Given the description of an element on the screen output the (x, y) to click on. 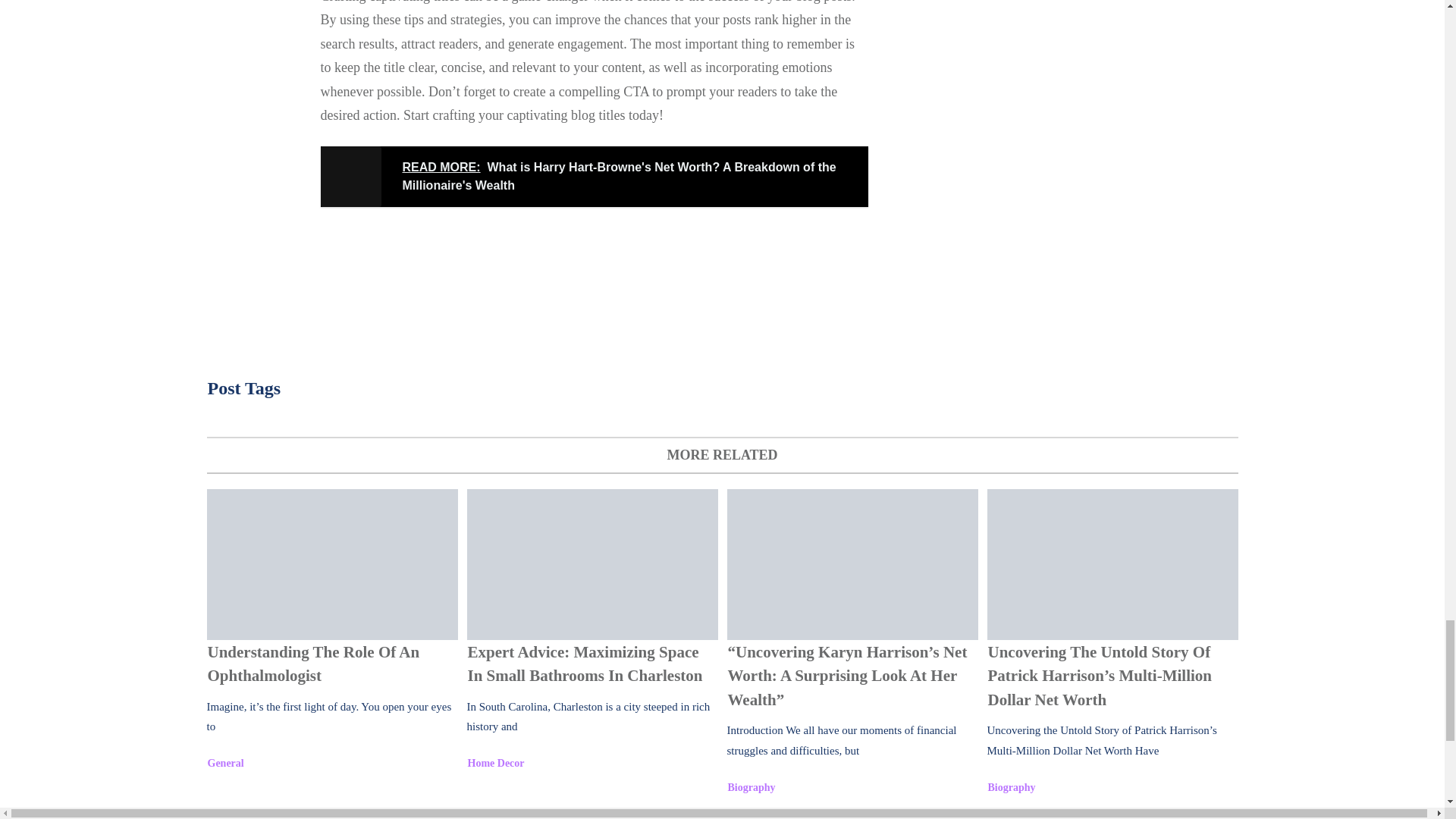
Biography (1011, 787)
Biography (752, 787)
Home Decor (495, 763)
Understanding the Role of an Ophthalmologist (331, 563)
General (226, 763)
